Given the description of an element on the screen output the (x, y) to click on. 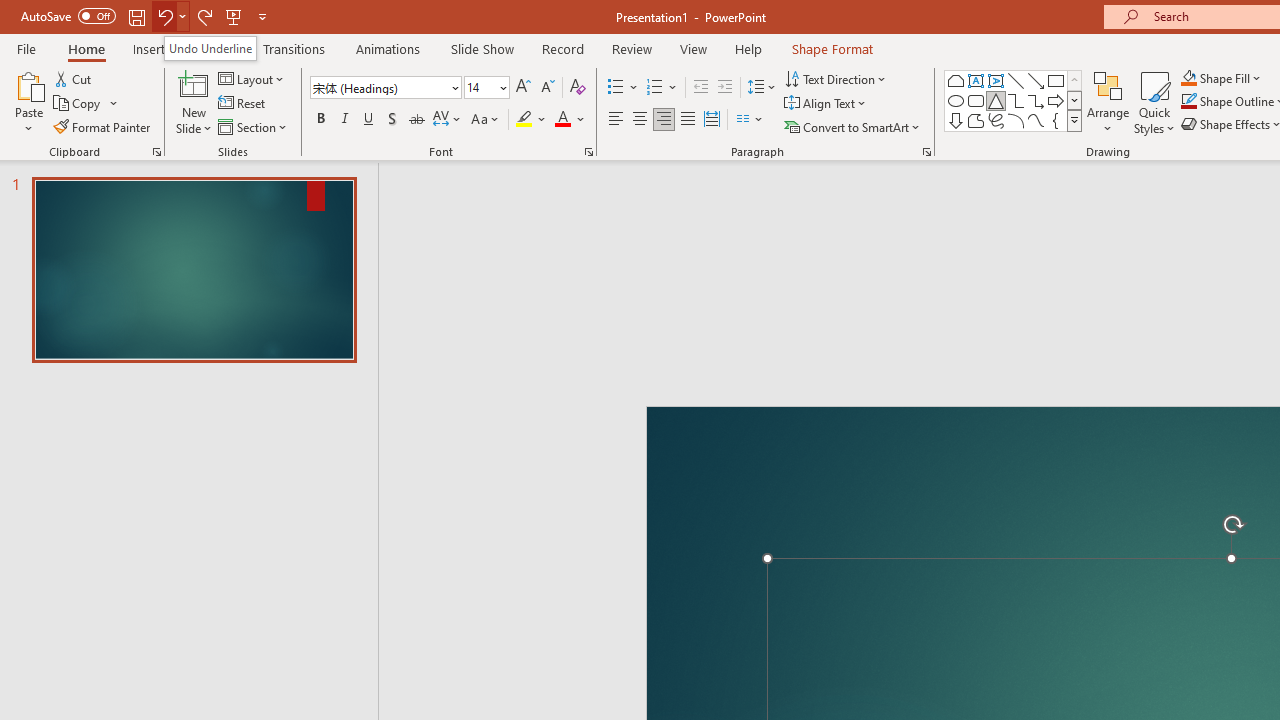
Rectangle: Top Corners Snipped (955, 80)
